Given the description of an element on the screen output the (x, y) to click on. 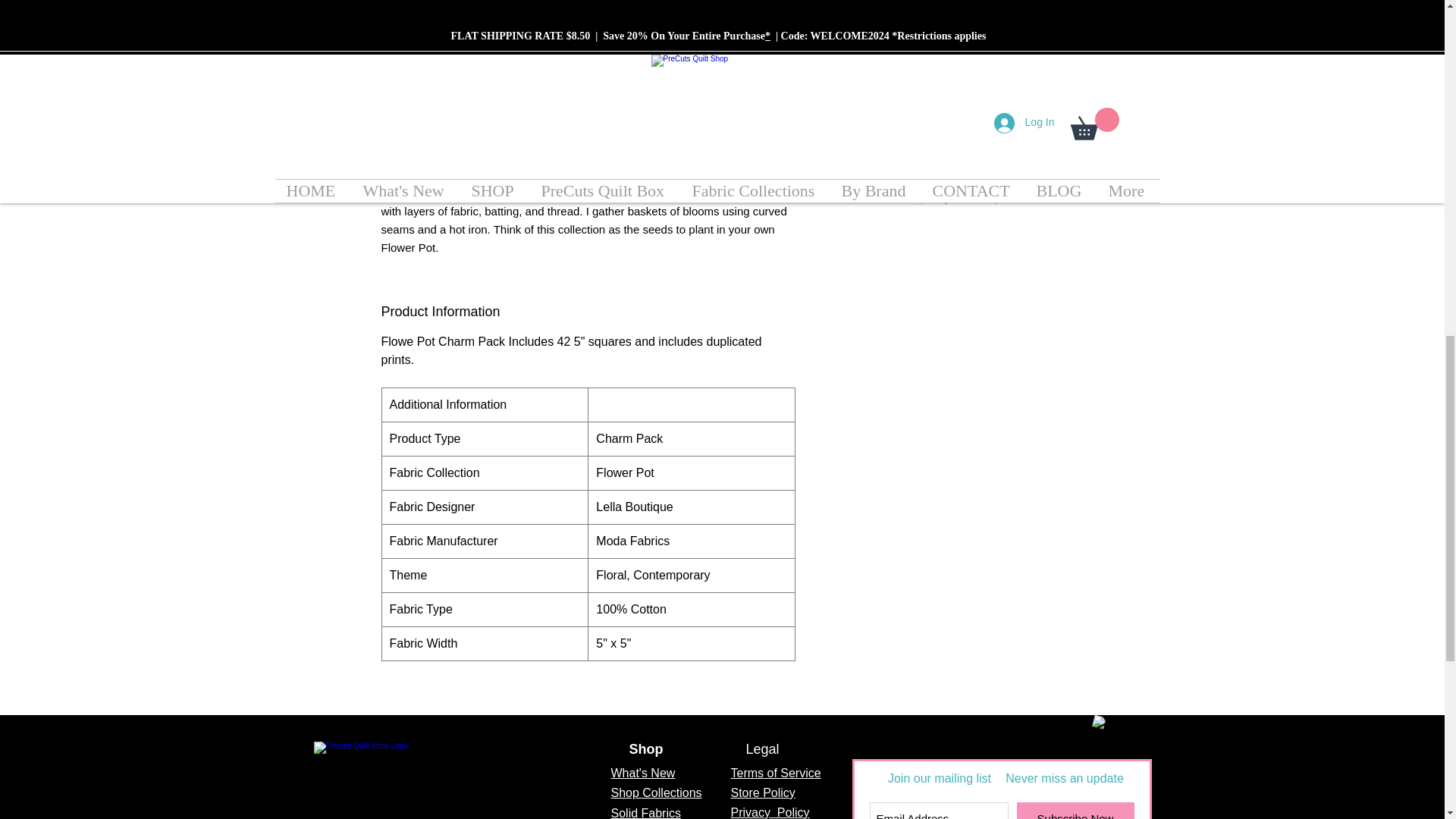
Contact us (1110, 743)
1 (959, 107)
Precuts Quilt Shop Online Fabric Store (367, 780)
